Given the description of an element on the screen output the (x, y) to click on. 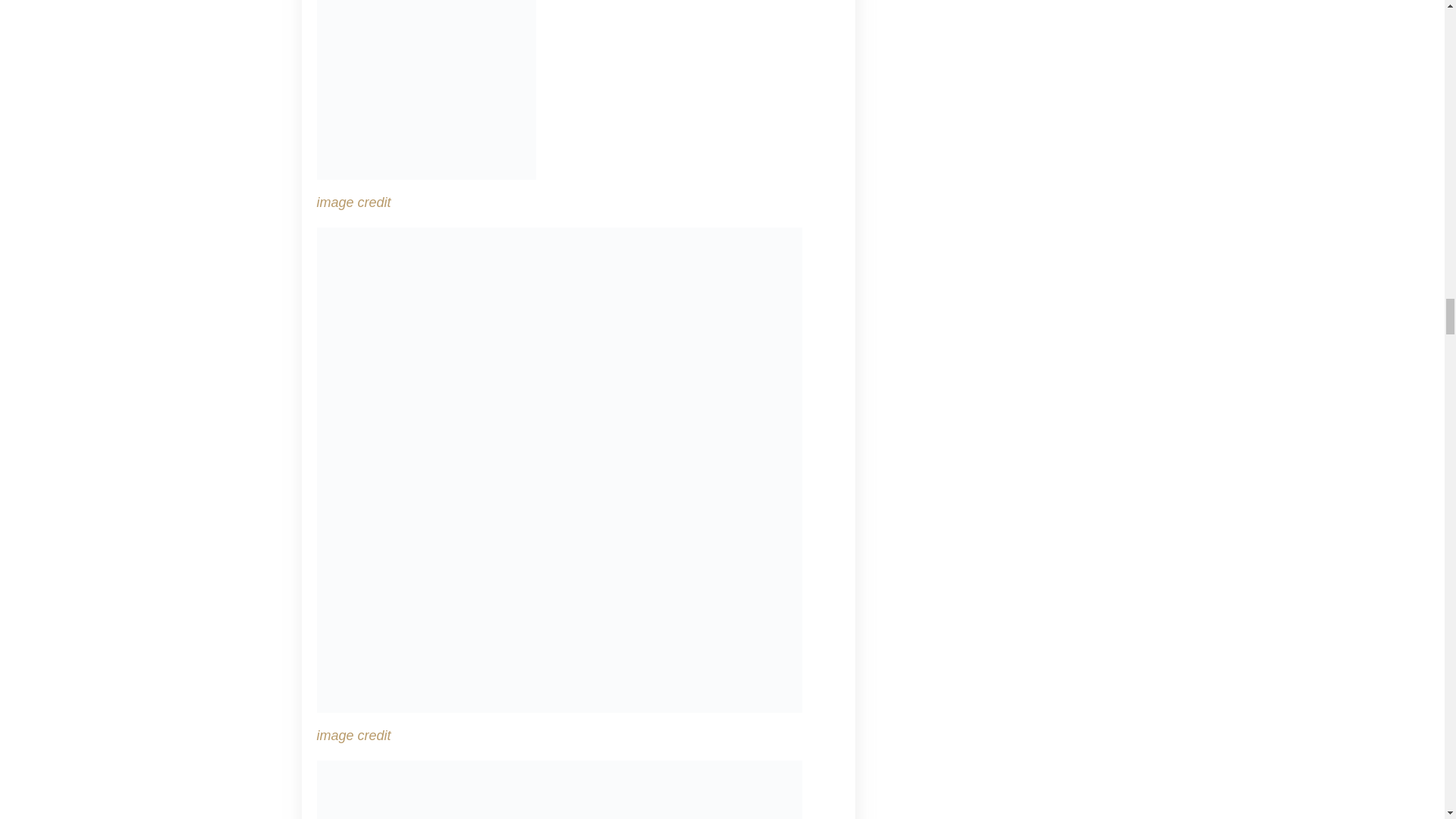
image credit (354, 201)
image credit (354, 735)
